Given the description of an element on the screen output the (x, y) to click on. 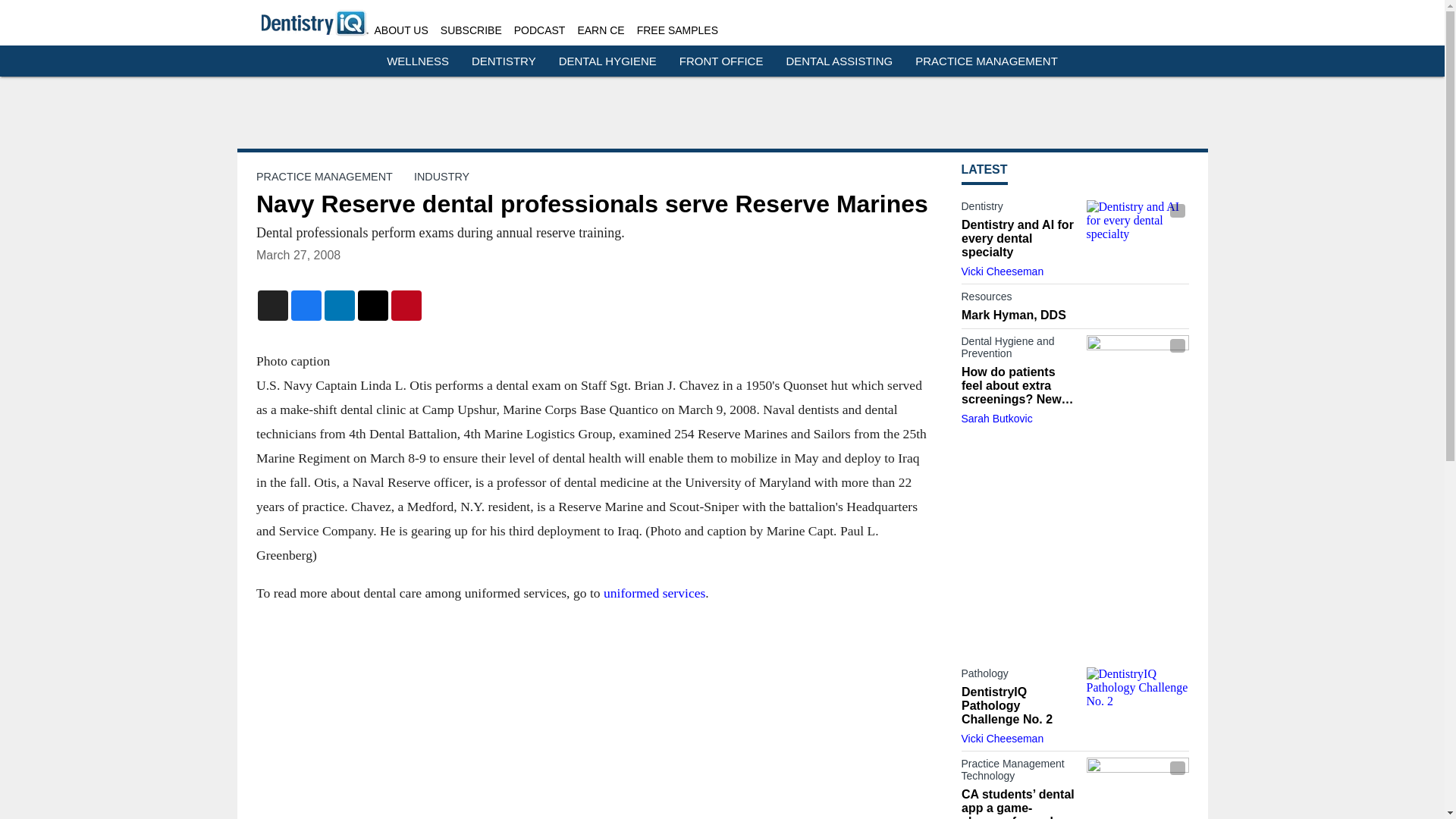
PODCAST (539, 30)
Mark Hyman, DDS (1074, 315)
Dental Hygiene and Prevention (1019, 349)
DENTISTRY (503, 60)
DENTAL HYGIENE (607, 60)
Dentistry (1019, 208)
WELLNESS (417, 60)
PRACTICE MANAGEMENT (986, 60)
Dentistry and AI for every dental specialty (1137, 228)
Vicki Cheeseman (1001, 738)
DentistryIQ Pathology Challenge No. 2 (1137, 695)
FRONT OFFICE (720, 60)
Pathology (1019, 676)
PRACTICE MANAGEMENT (324, 176)
